Given the description of an element on the screen output the (x, y) to click on. 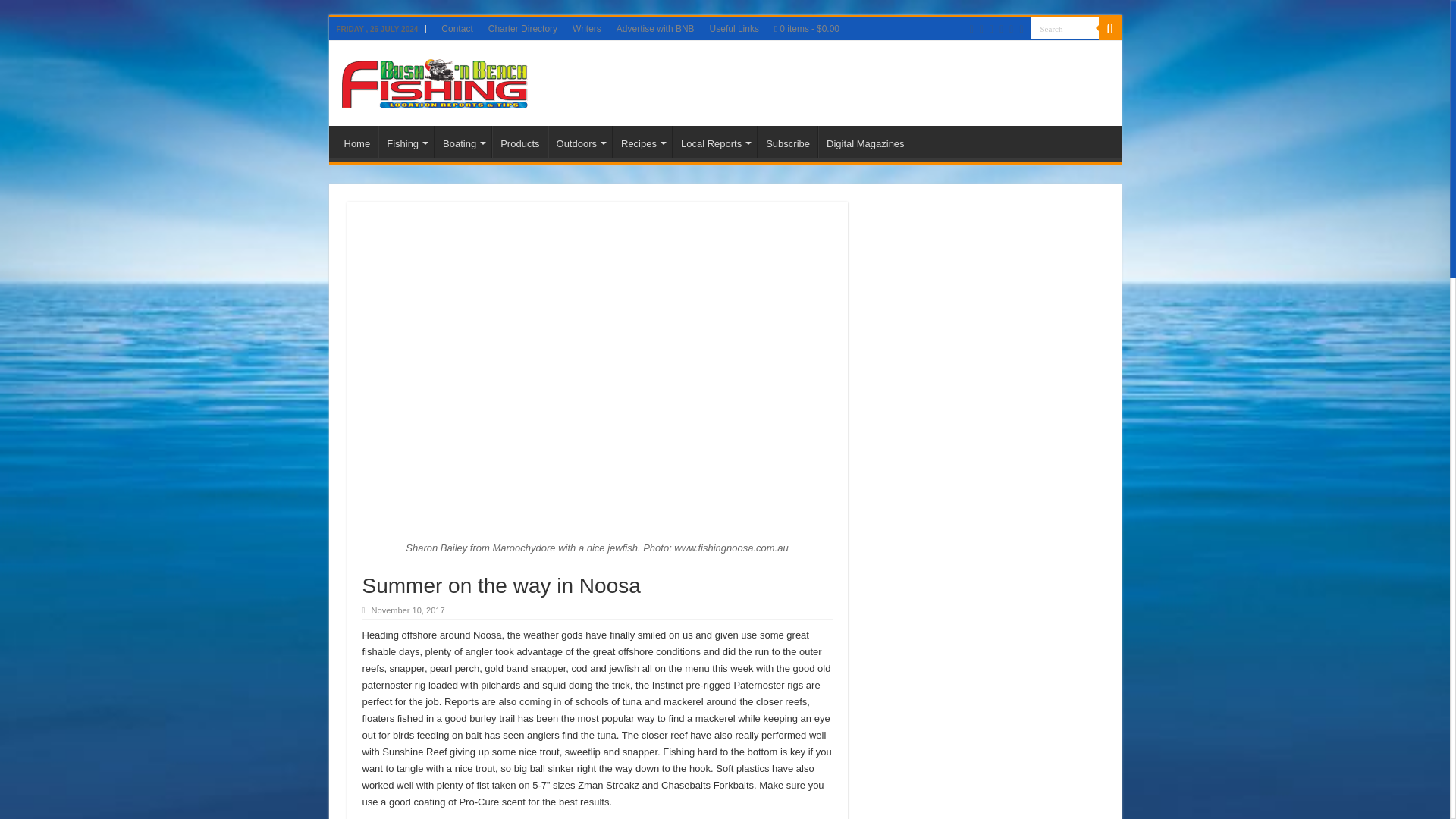
Charter Directory (522, 28)
Advertise with BNB (654, 28)
Search (1109, 28)
Search (1063, 28)
Contact (456, 28)
Fishing (405, 142)
Useful Links (734, 28)
Search (1063, 28)
Home (357, 142)
Writers (586, 28)
